Given the description of an element on the screen output the (x, y) to click on. 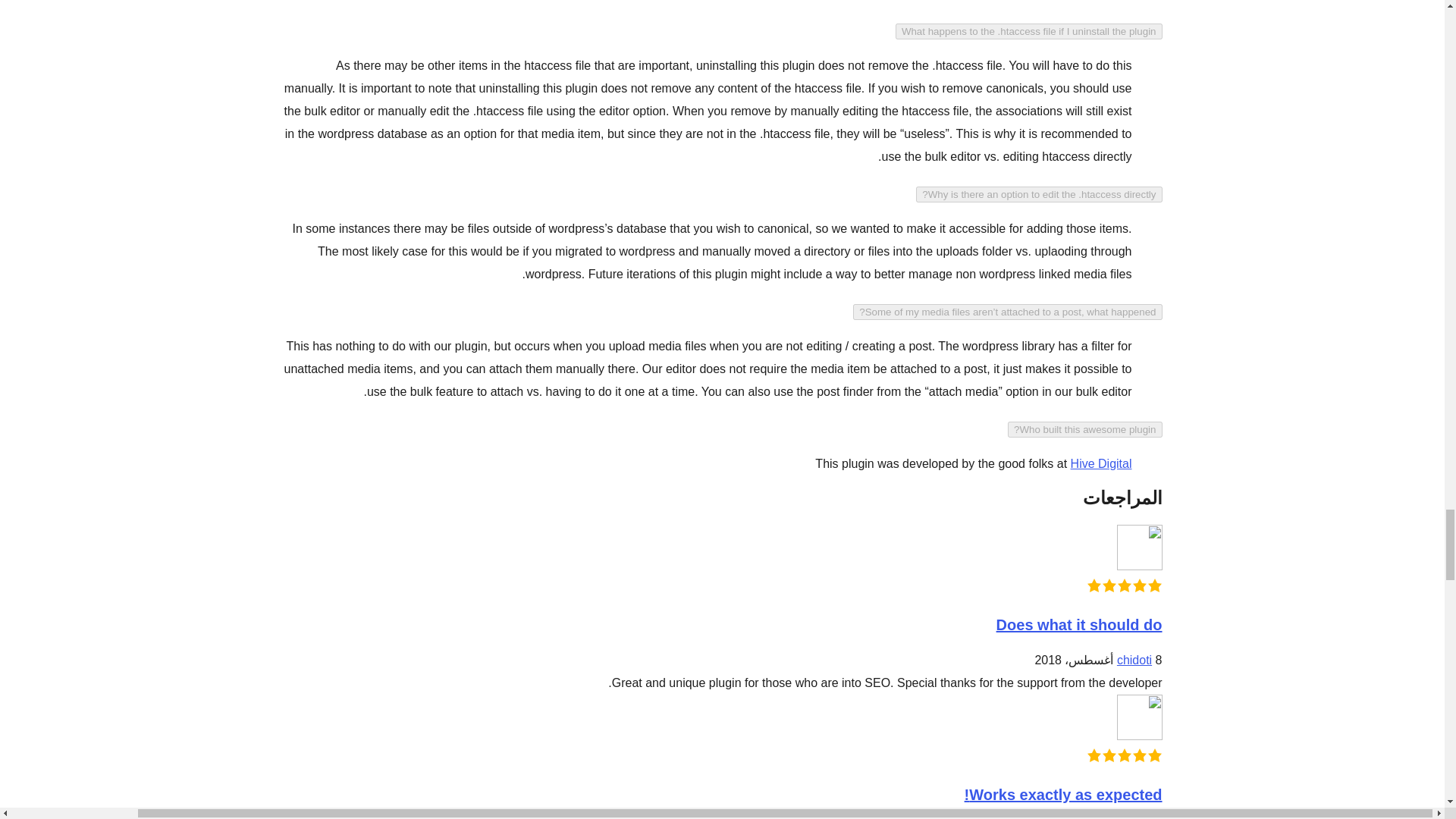
Awesome Digital Marketing Agency (1101, 463)
